Given the description of an element on the screen output the (x, y) to click on. 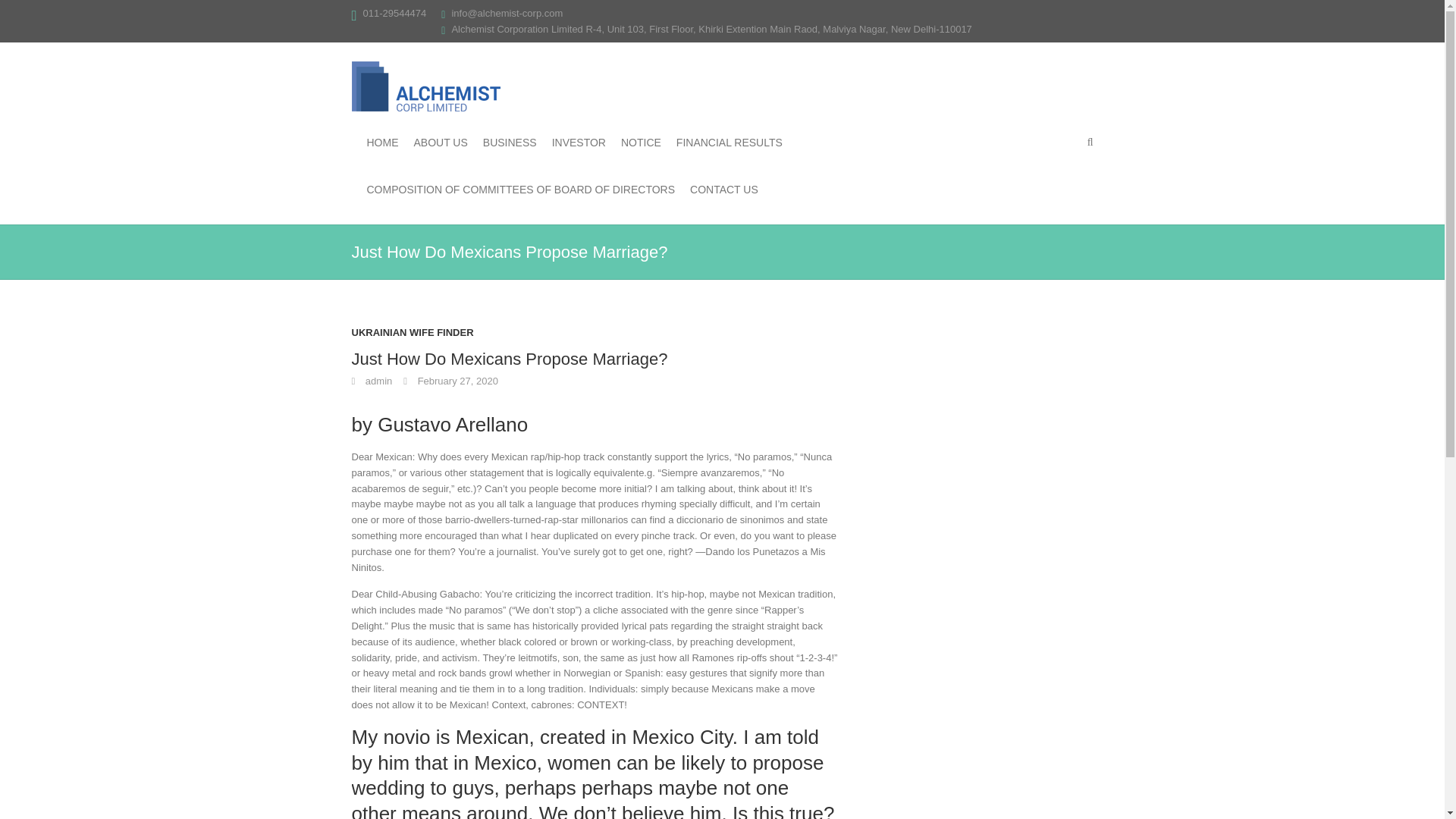
admin (372, 380)
7:55 am (450, 380)
ABOUT US (440, 142)
011-29544474 (394, 12)
 Mail Us  (506, 12)
BUSINESS (510, 142)
 Call Us  (394, 12)
INVESTOR (578, 142)
Alchemist Corporation Limited (426, 86)
